Given the description of an element on the screen output the (x, y) to click on. 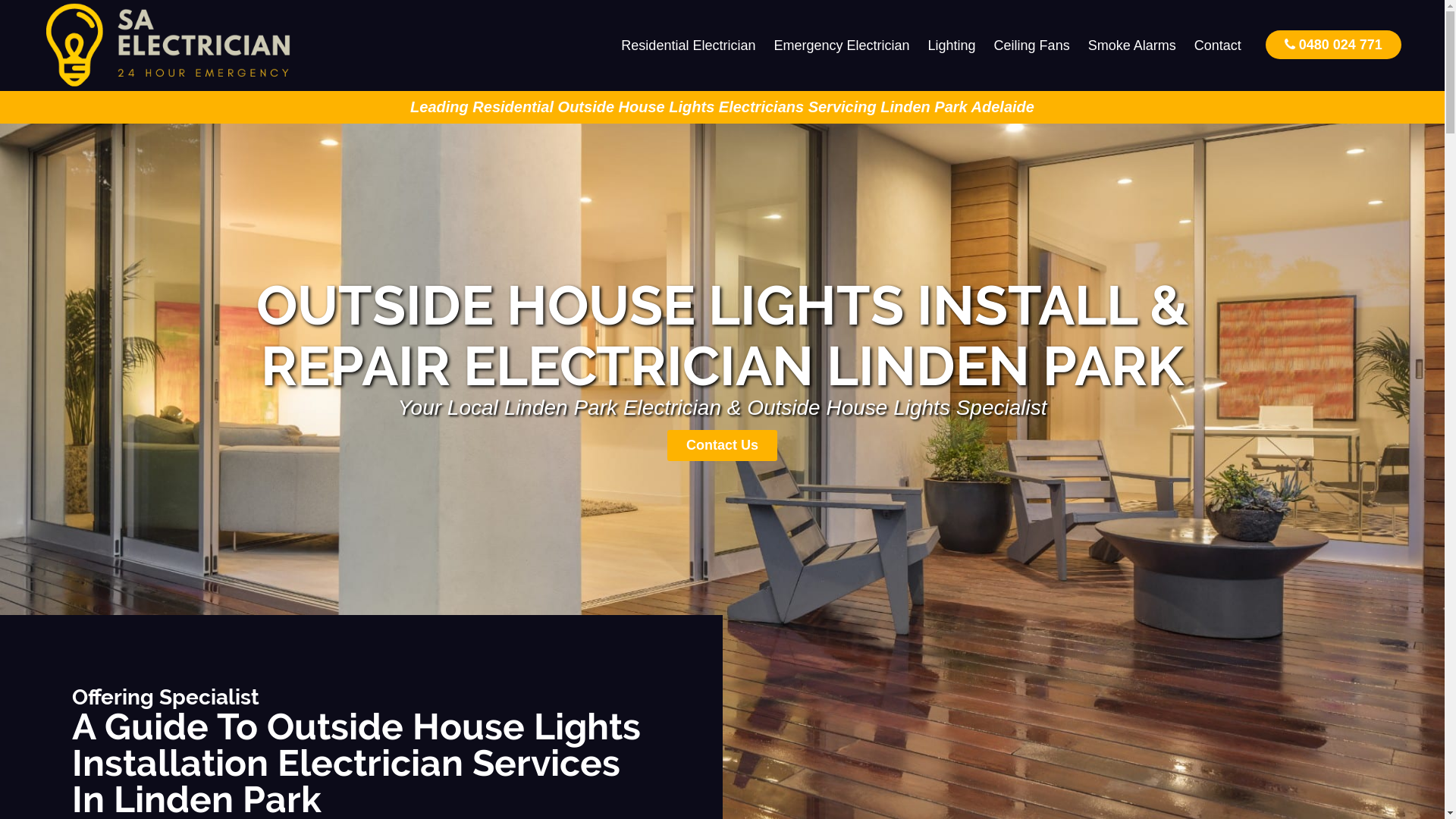
Contact Element type: text (1217, 45)
Contact Us Element type: text (722, 445)
Emergency Electrician Element type: text (841, 45)
0480 024 771 Element type: text (1333, 44)
Smoke Alarms Element type: text (1132, 45)
Lighting Element type: text (952, 45)
Ceiling Fans Element type: text (1032, 45)
Residential Electrician Element type: text (687, 45)
